Given the description of an element on the screen output the (x, y) to click on. 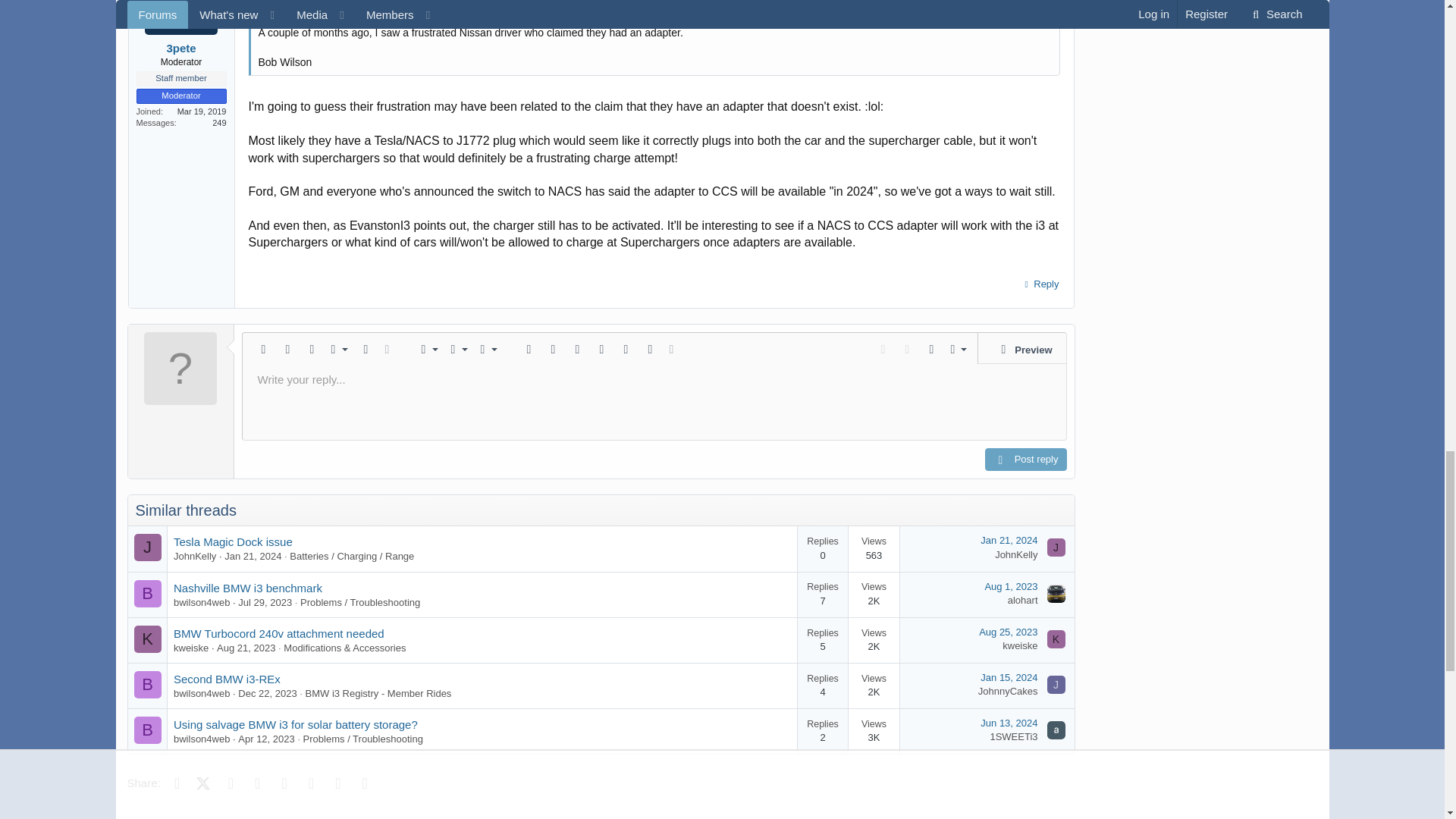
Font size (335, 349)
Reply, quoting this message (1039, 284)
Remove formatting (263, 349)
